Given the description of an element on the screen output the (x, y) to click on. 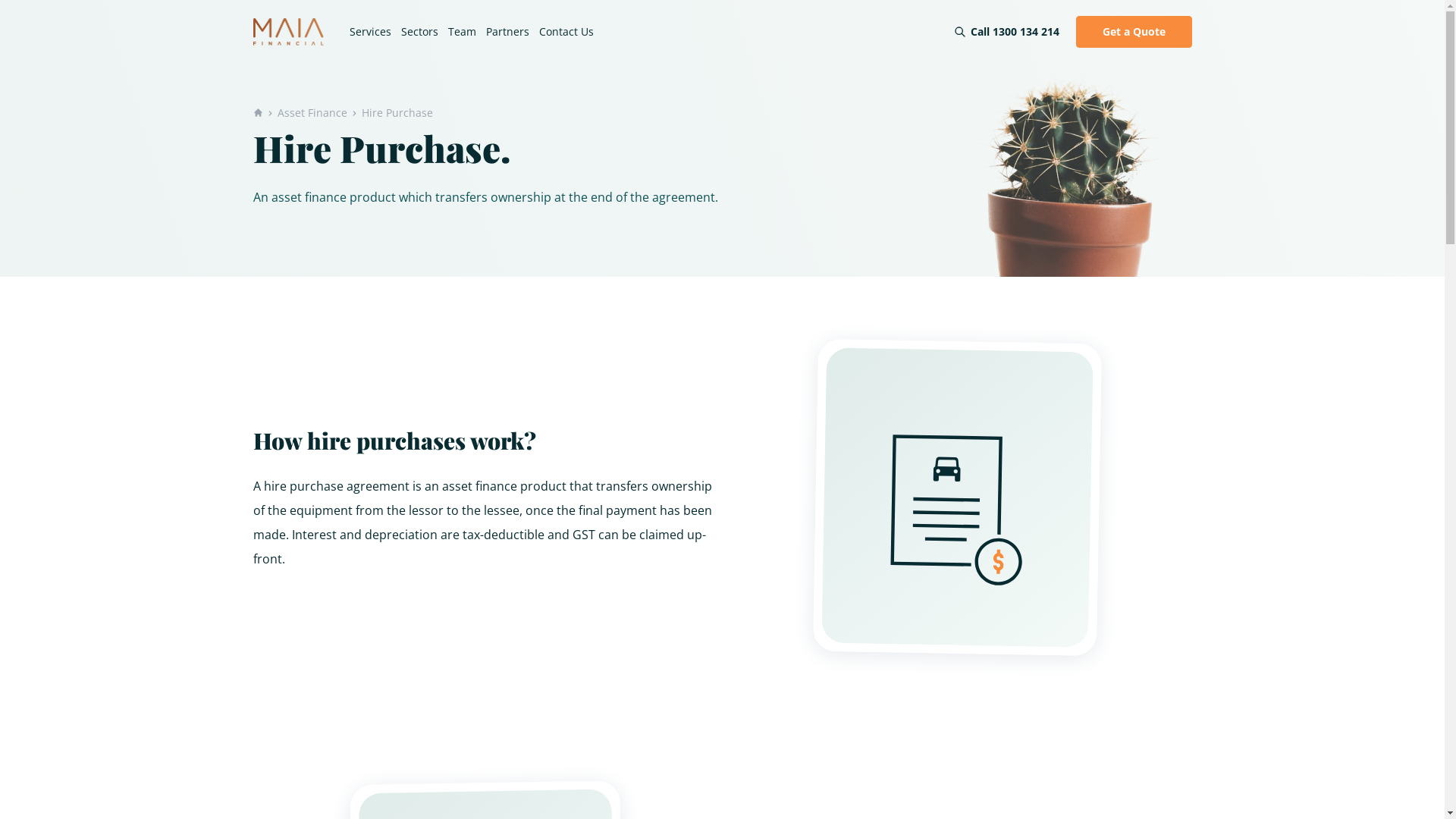
Get a Quote Element type: text (1133, 31)
Call 1300 134 214 Element type: text (1014, 31)
Partners Element type: text (506, 31)
Asset Finance Element type: text (312, 112)
Sectors Element type: text (418, 31)
Services Element type: text (369, 31)
Contact Us Element type: text (565, 31)
Hire Purchase Element type: text (396, 112)
Team Element type: text (461, 31)
